Given the description of an element on the screen output the (x, y) to click on. 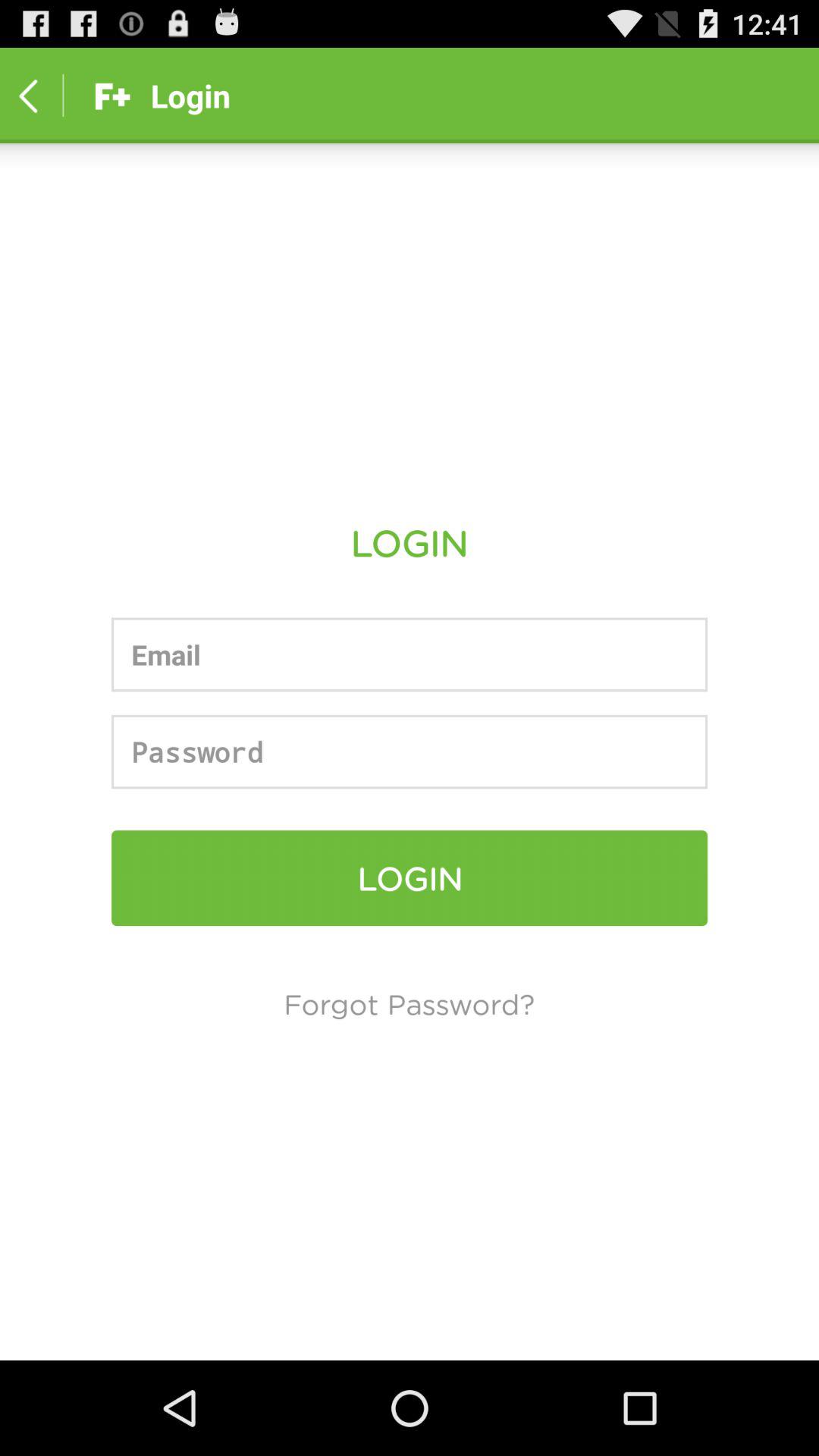
jump to the forgot password? icon (408, 1003)
